Given the description of an element on the screen output the (x, y) to click on. 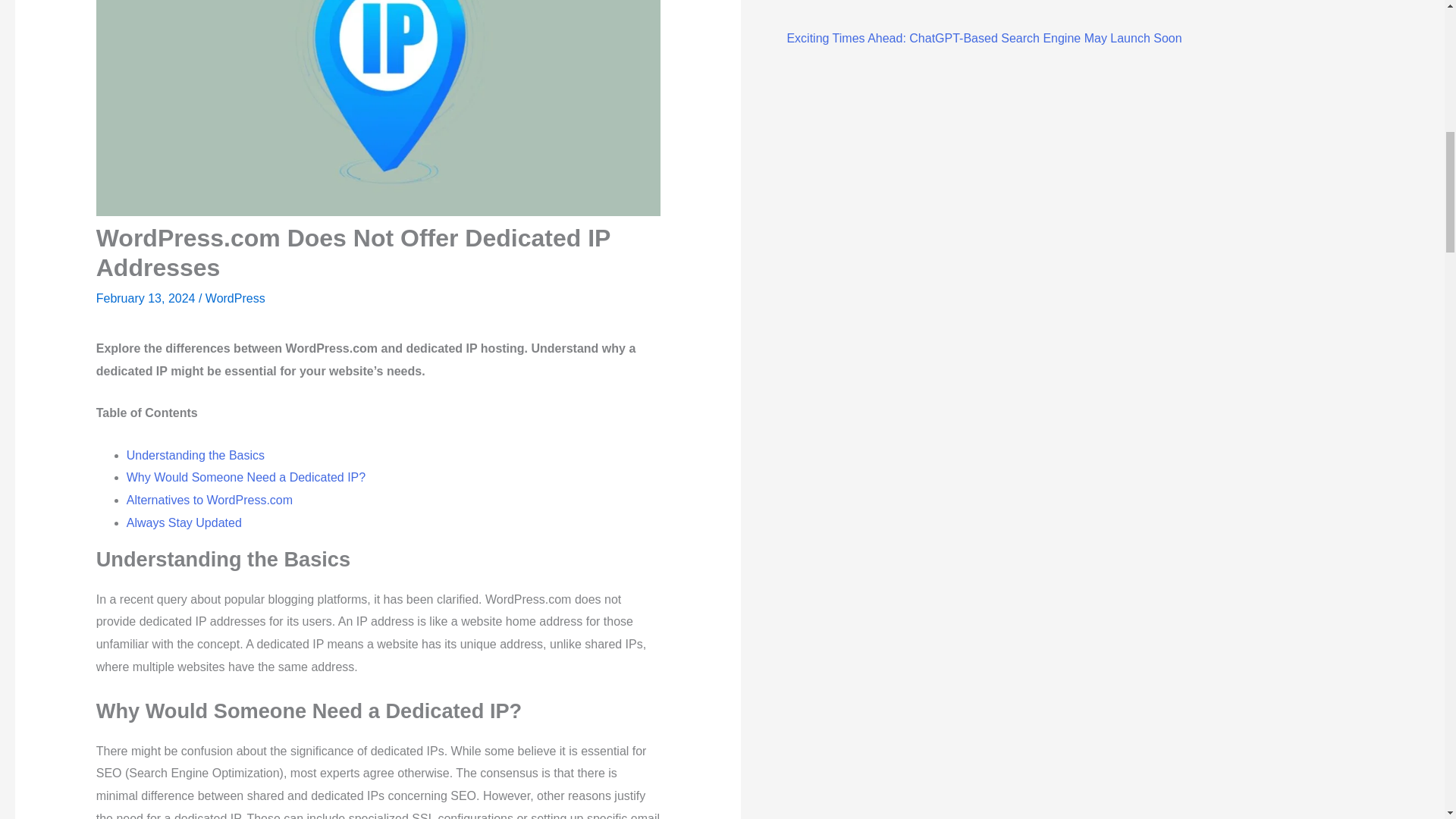
Always Stay Updated (183, 522)
Understanding the Basics (195, 454)
Alternatives to WordPress.com (209, 499)
WordPress (234, 297)
Why Would Someone Need a Dedicated IP? (245, 477)
